Given the description of an element on the screen output the (x, y) to click on. 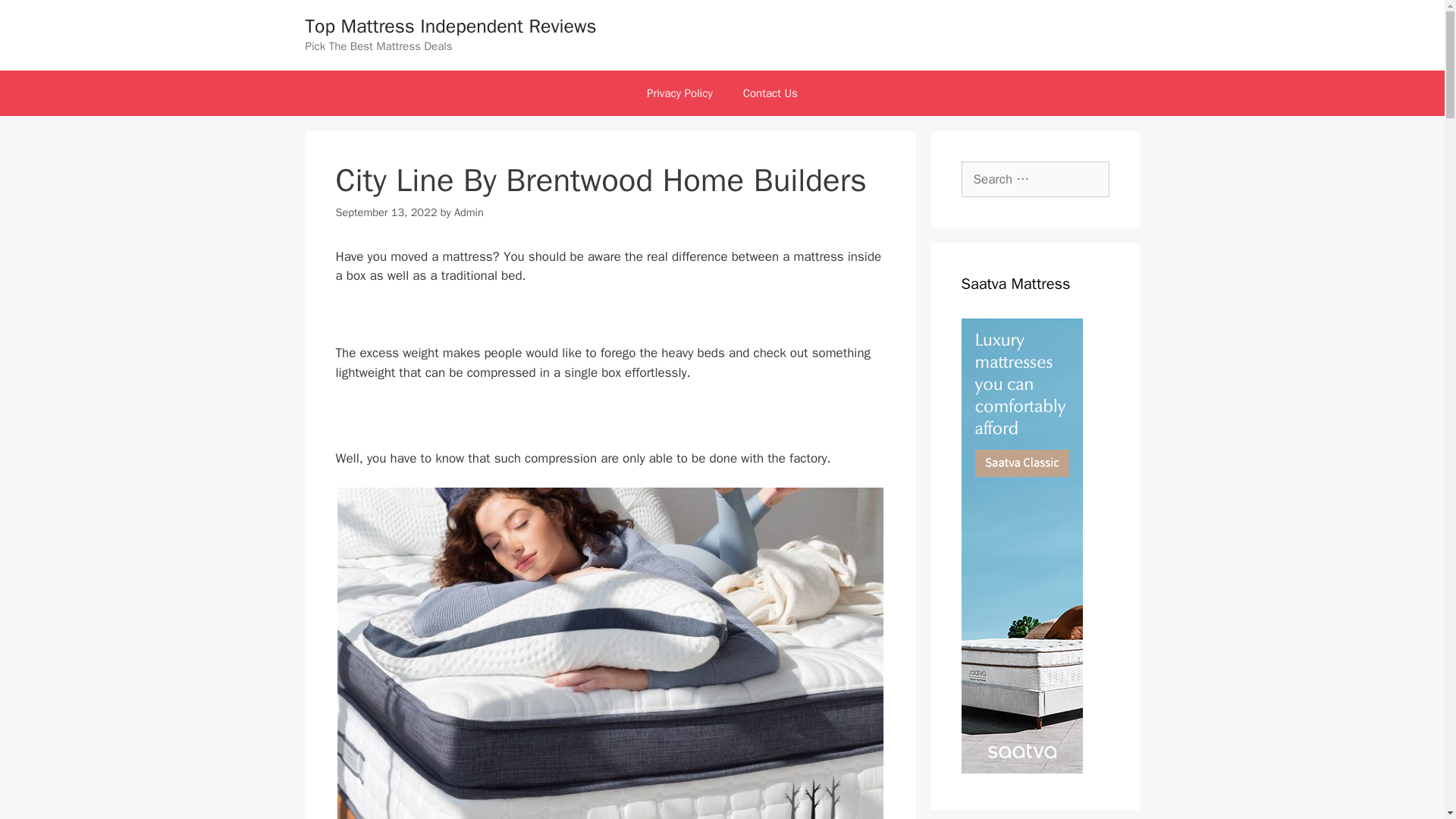
Search (35, 18)
Top Mattress Independent Reviews (449, 25)
Admin (468, 212)
Search for: (1034, 178)
Contact Us (770, 92)
Privacy Policy (679, 92)
View all posts by Admin (468, 212)
